Given the description of an element on the screen output the (x, y) to click on. 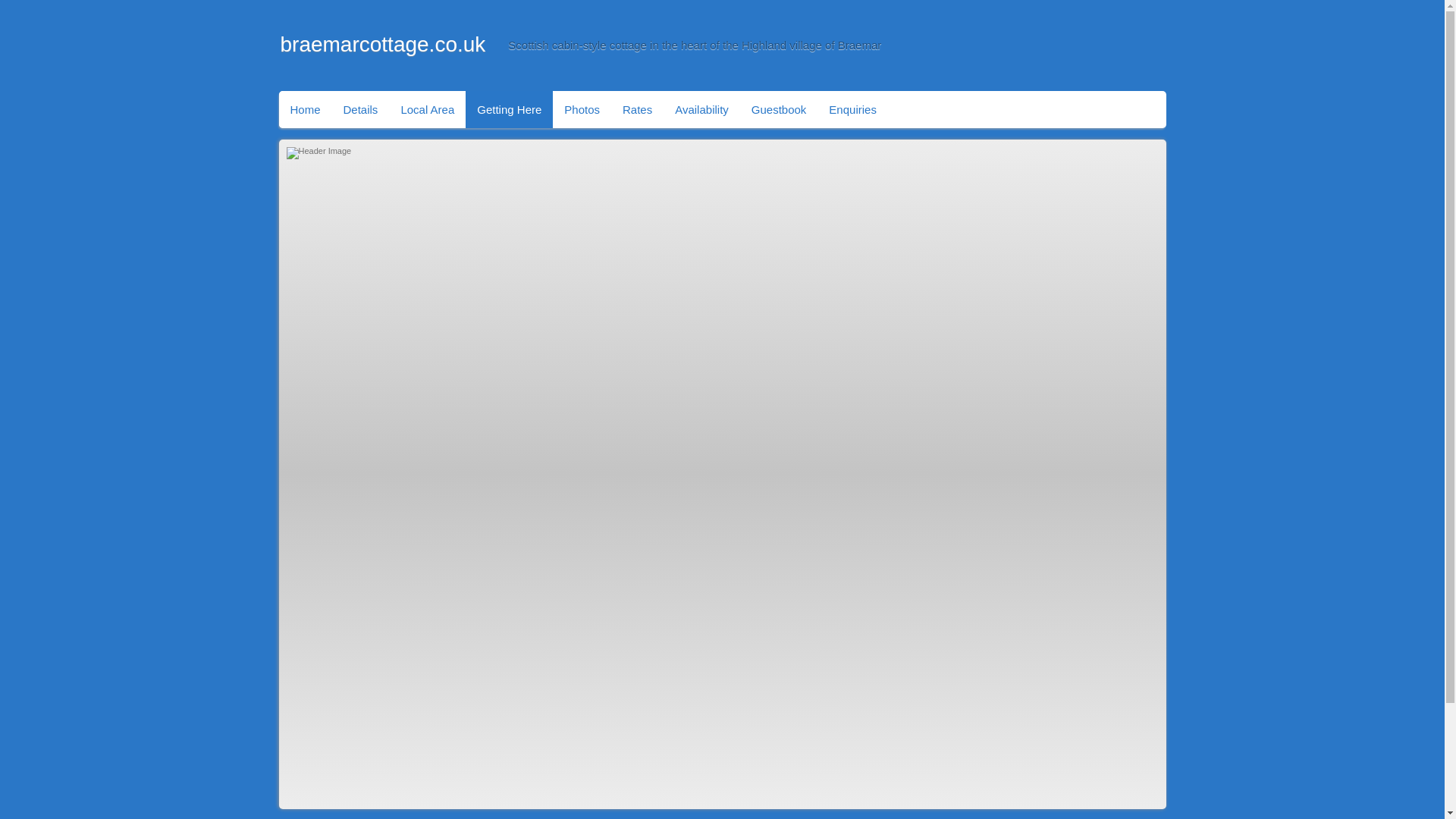
Local Area (426, 108)
Rates (637, 108)
Enquiries (852, 108)
Home (305, 108)
Guestbook (778, 108)
braemarcottage.co.uk (383, 44)
Details (360, 108)
Photos (582, 108)
Availability (701, 108)
Getting Here (509, 108)
